Given the description of an element on the screen output the (x, y) to click on. 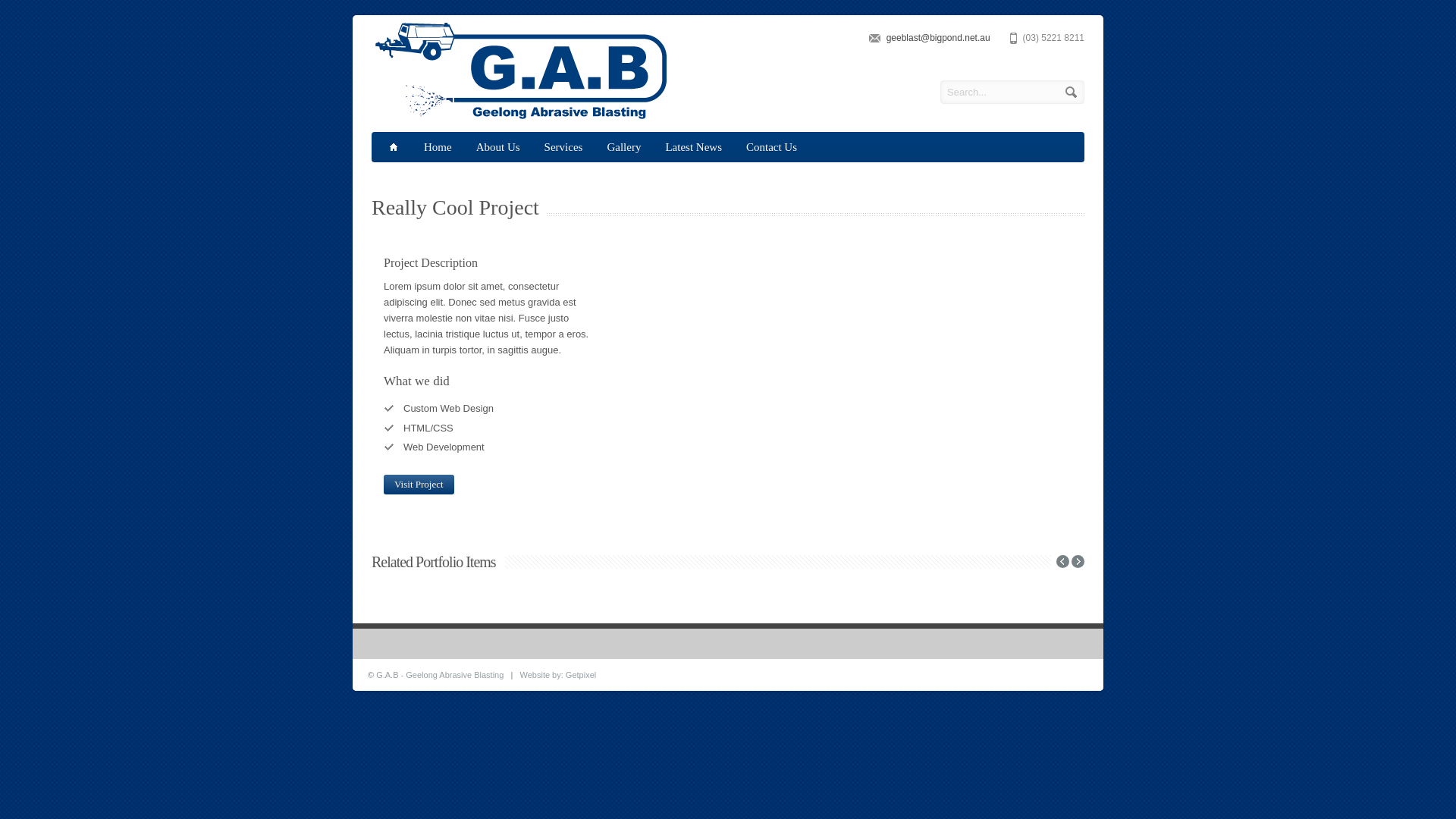
Website by: Getpixel Element type: text (558, 674)
Search... Element type: text (1012, 91)
Geelong Abrasive Blasting Element type: hover (519, 116)
About Us Element type: text (498, 146)
Latest News Element type: text (693, 146)
Contact Us Element type: text (771, 146)
Visit Project Element type: text (418, 484)
Services Element type: text (563, 146)
G.A.B - Geelong Abrasive Blasting Element type: text (439, 674)
geeblast@bigpond.net.au Element type: text (938, 37)
Home Element type: text (437, 146)
Gallery Element type: text (623, 146)
